Given the description of an element on the screen output the (x, y) to click on. 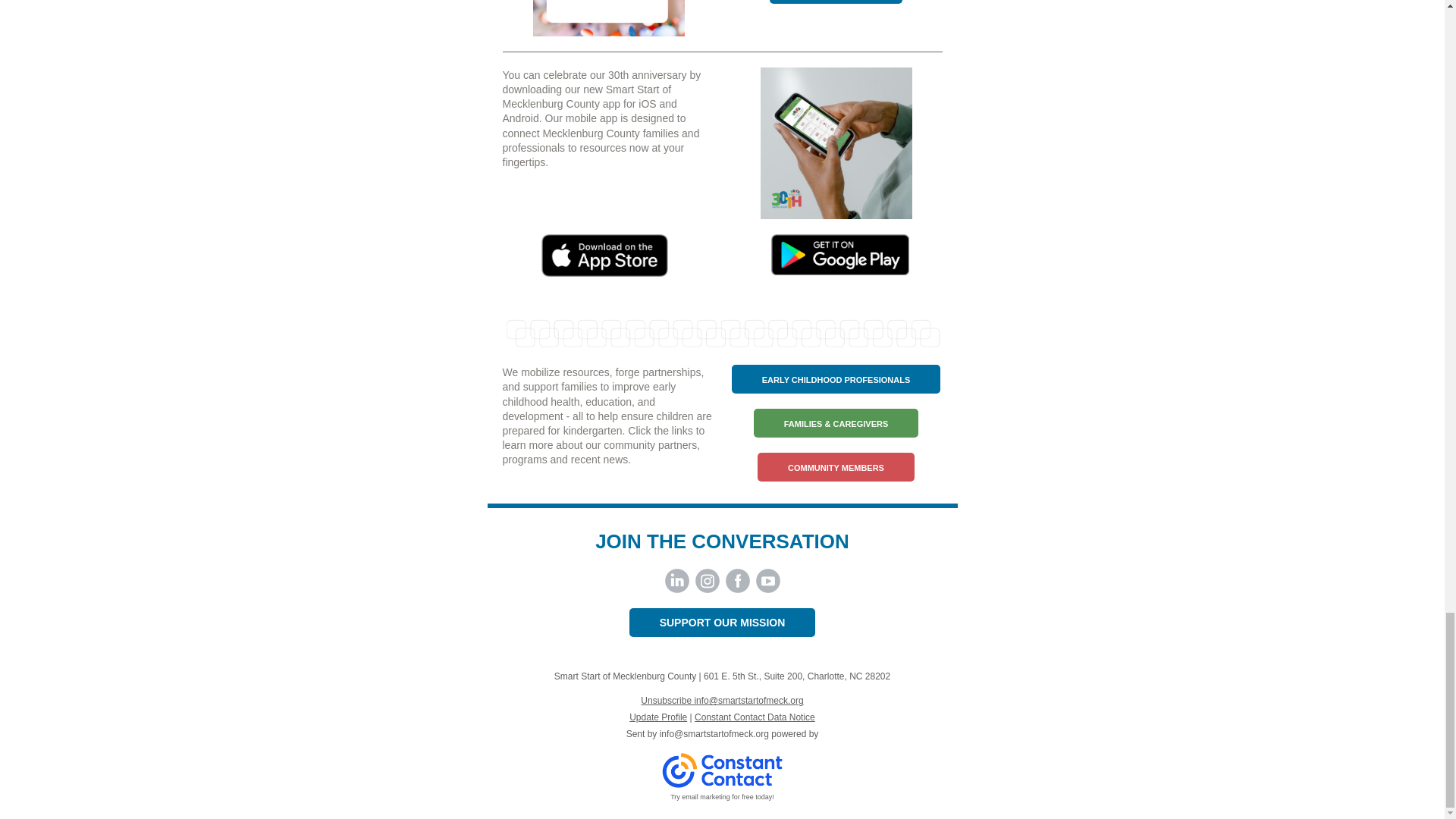
EARLY CHILDHOOD PROFESIONALS (836, 379)
COMMUNITY MEMBERS (835, 467)
SUPPORT OUR MISSION (722, 622)
Update Profile (657, 716)
Constant Contact Data Notice (754, 716)
Try email marketing for free today! (721, 796)
